Given the description of an element on the screen output the (x, y) to click on. 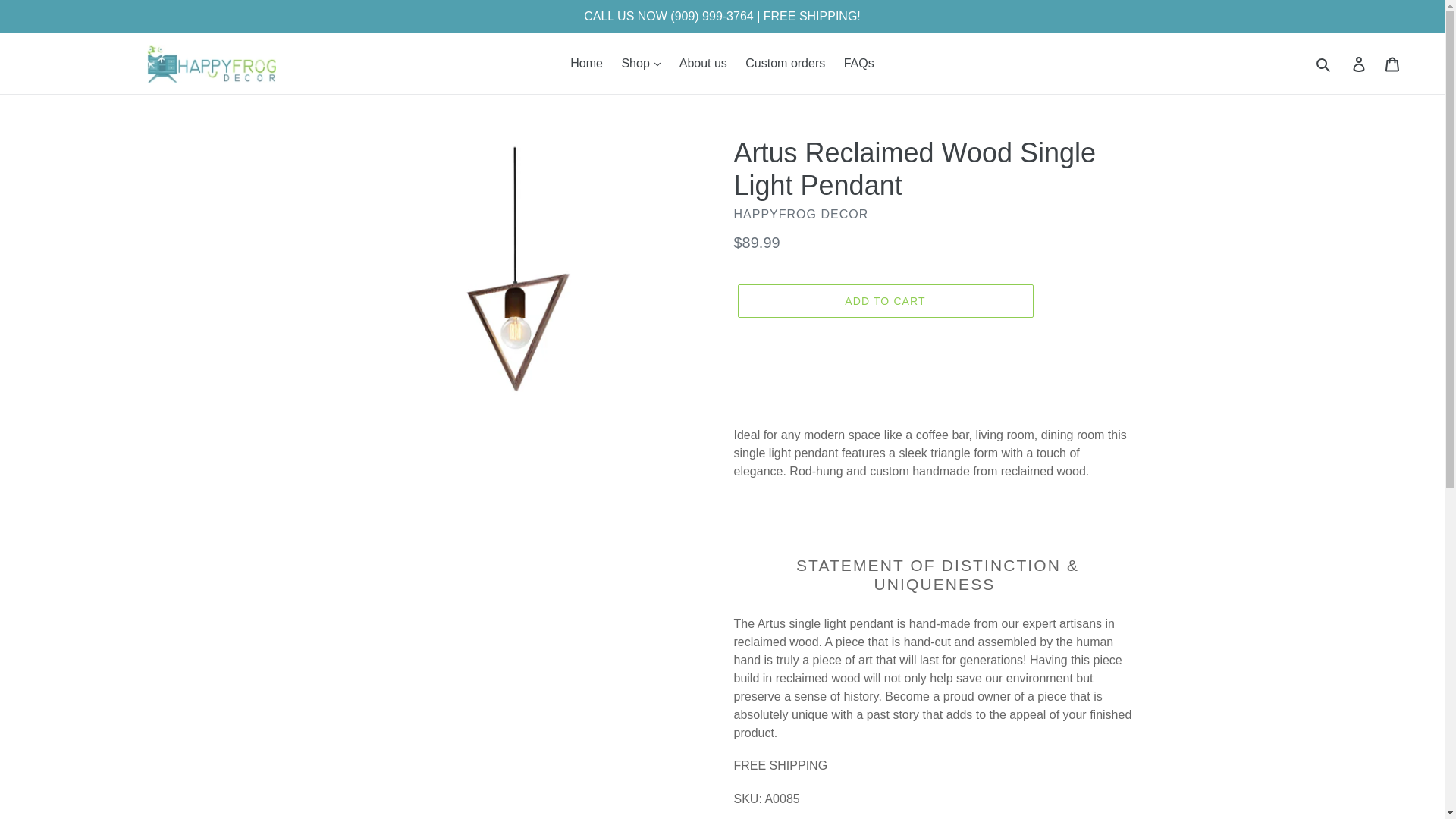
Submit (1324, 63)
About us (703, 63)
Custom orders (785, 63)
Cart (1392, 63)
Home (586, 63)
FAQs (858, 63)
Log in (1359, 63)
